Given the description of an element on the screen output the (x, y) to click on. 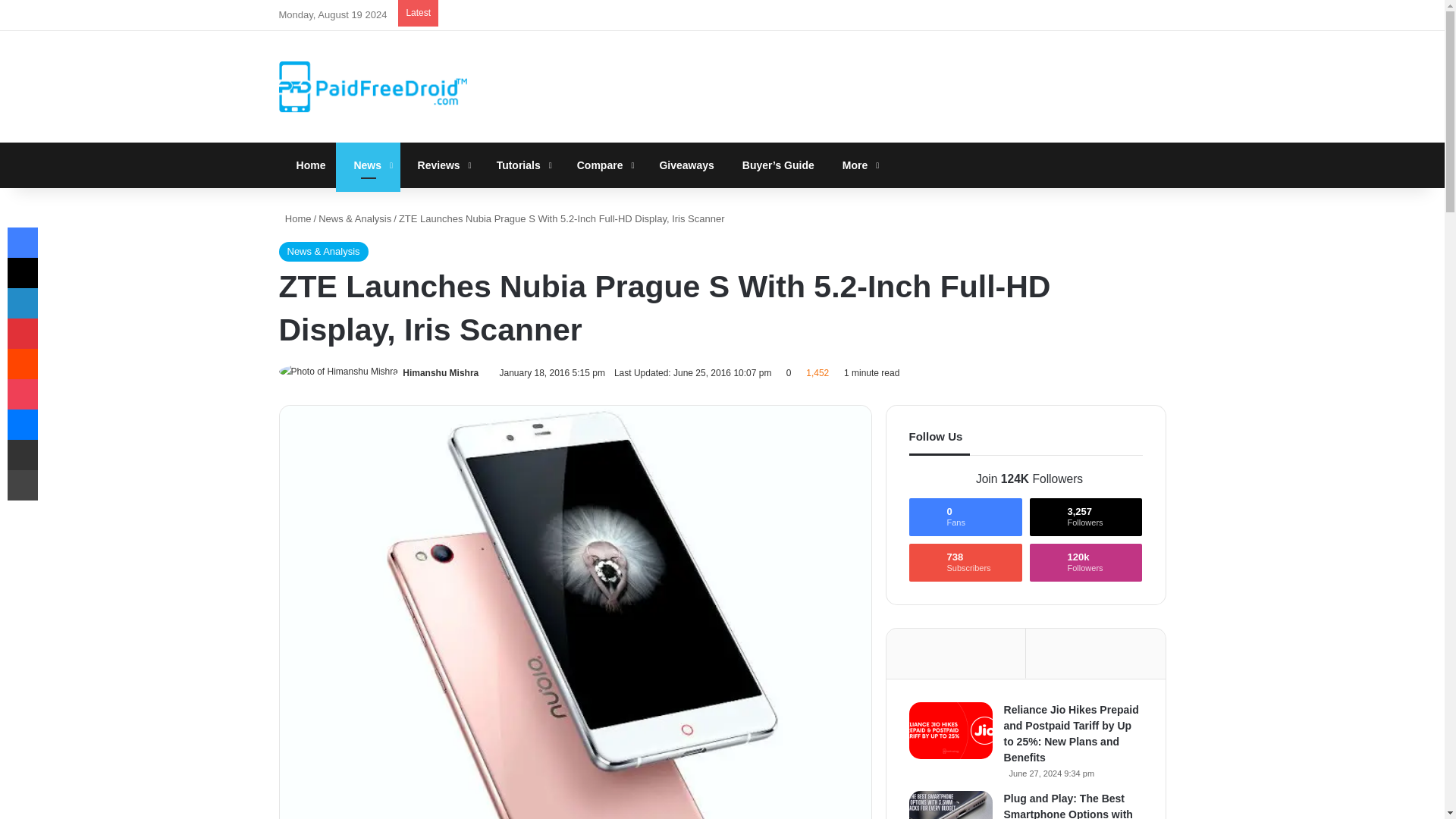
Himanshu Mishra (441, 372)
Reviews (439, 165)
Compare (600, 165)
Home (307, 165)
Giveaways (682, 165)
News (368, 165)
Tutorials (519, 165)
More (855, 165)
PaidFreeDroid - Technology Simplified! (373, 86)
